Given the description of an element on the screen output the (x, y) to click on. 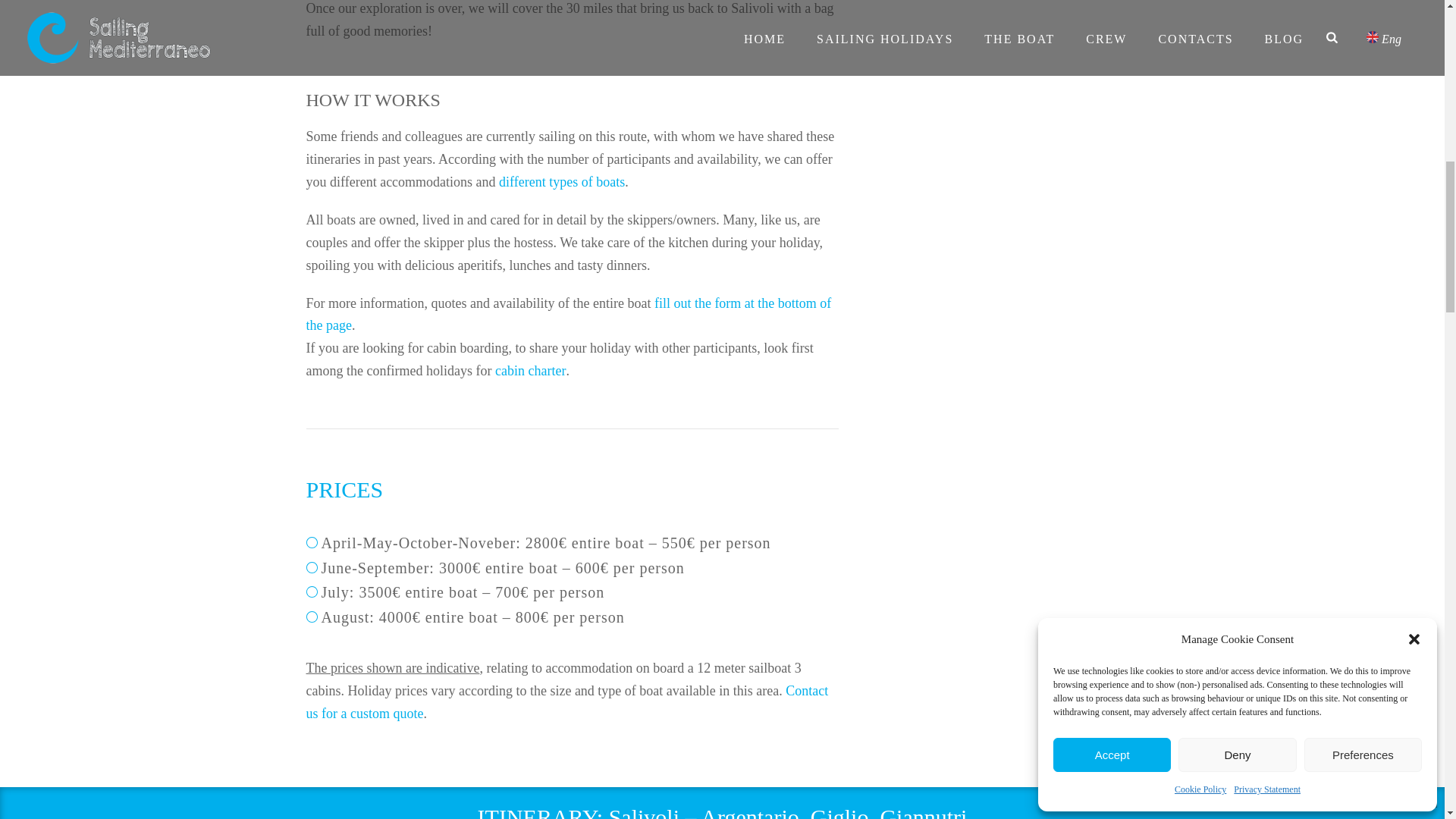
fill out the form at the bottom of the page (568, 314)
Contact us for a custom quote (566, 702)
